Given the description of an element on the screen output the (x, y) to click on. 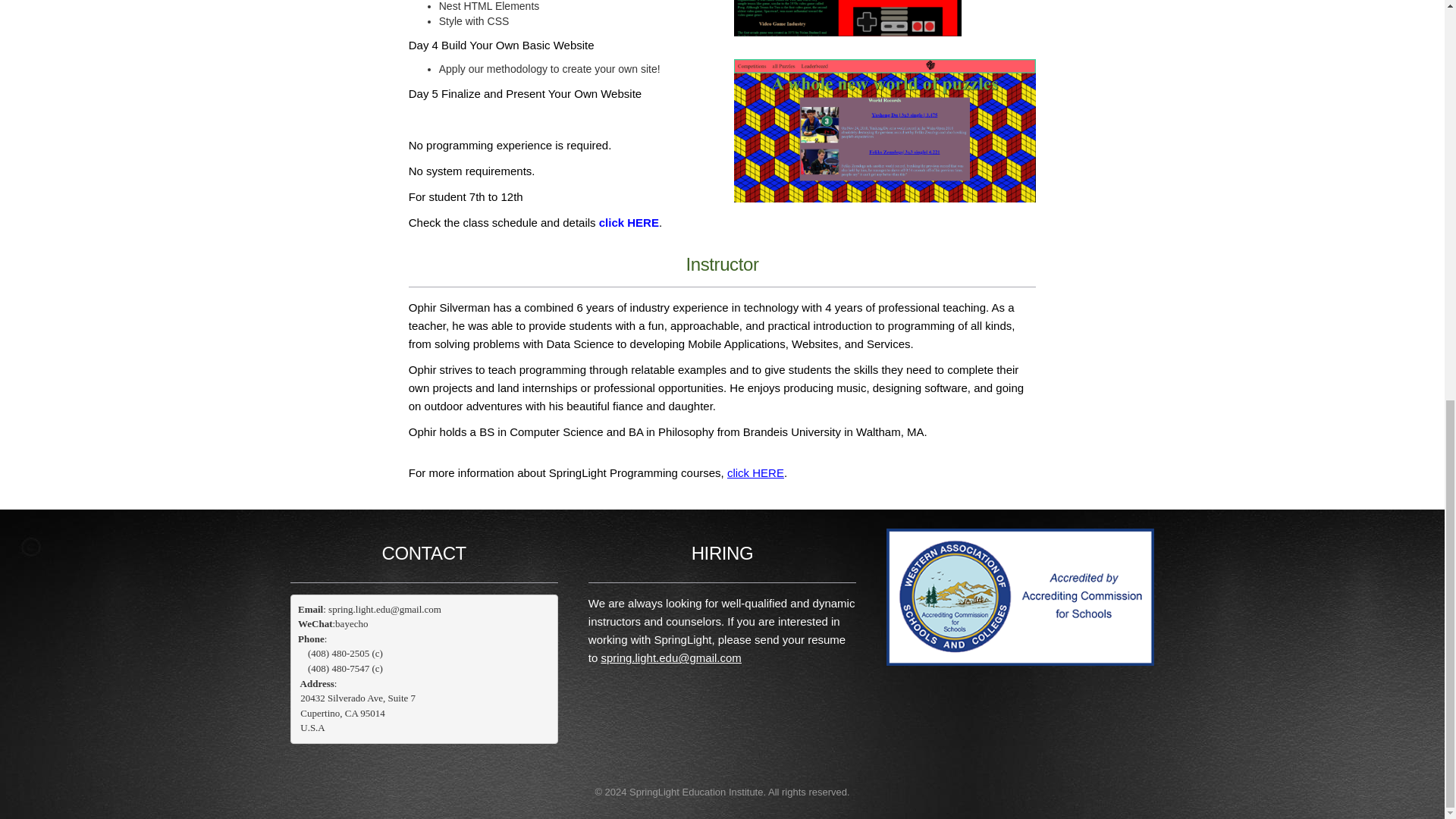
click HERE (755, 472)
web design sample 1 (884, 130)
click HERE (628, 222)
